Given the description of an element on the screen output the (x, y) to click on. 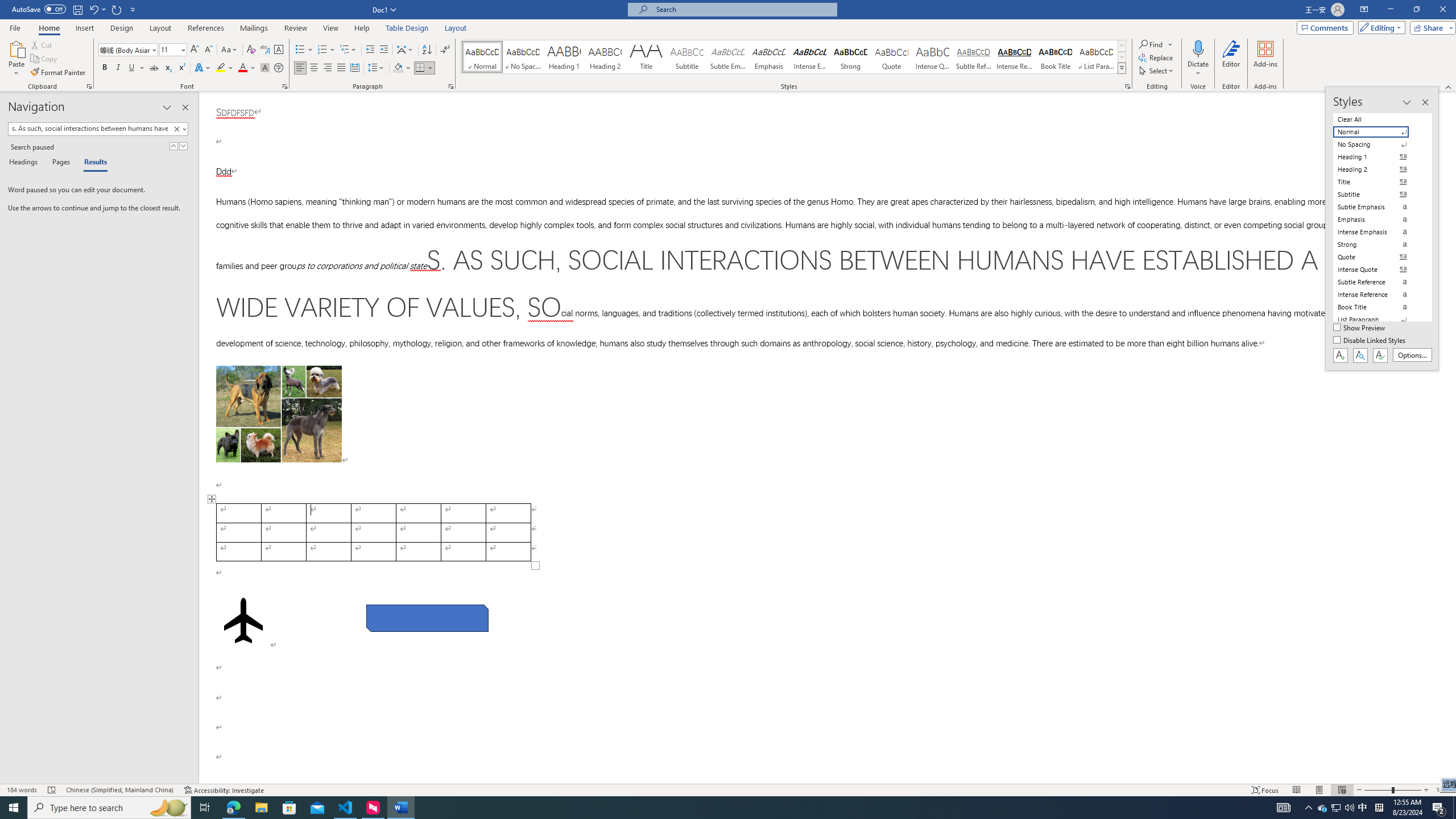
Align Right (327, 67)
Intense Emphasis (809, 56)
Normal (1377, 131)
Strong (849, 56)
Clear Formatting (250, 49)
Class: NetUIScrollBar (1450, 437)
Clear (176, 128)
Font... (285, 85)
Subtitle (686, 56)
Styles (1121, 67)
Heading 2 (605, 56)
